Given the description of an element on the screen output the (x, y) to click on. 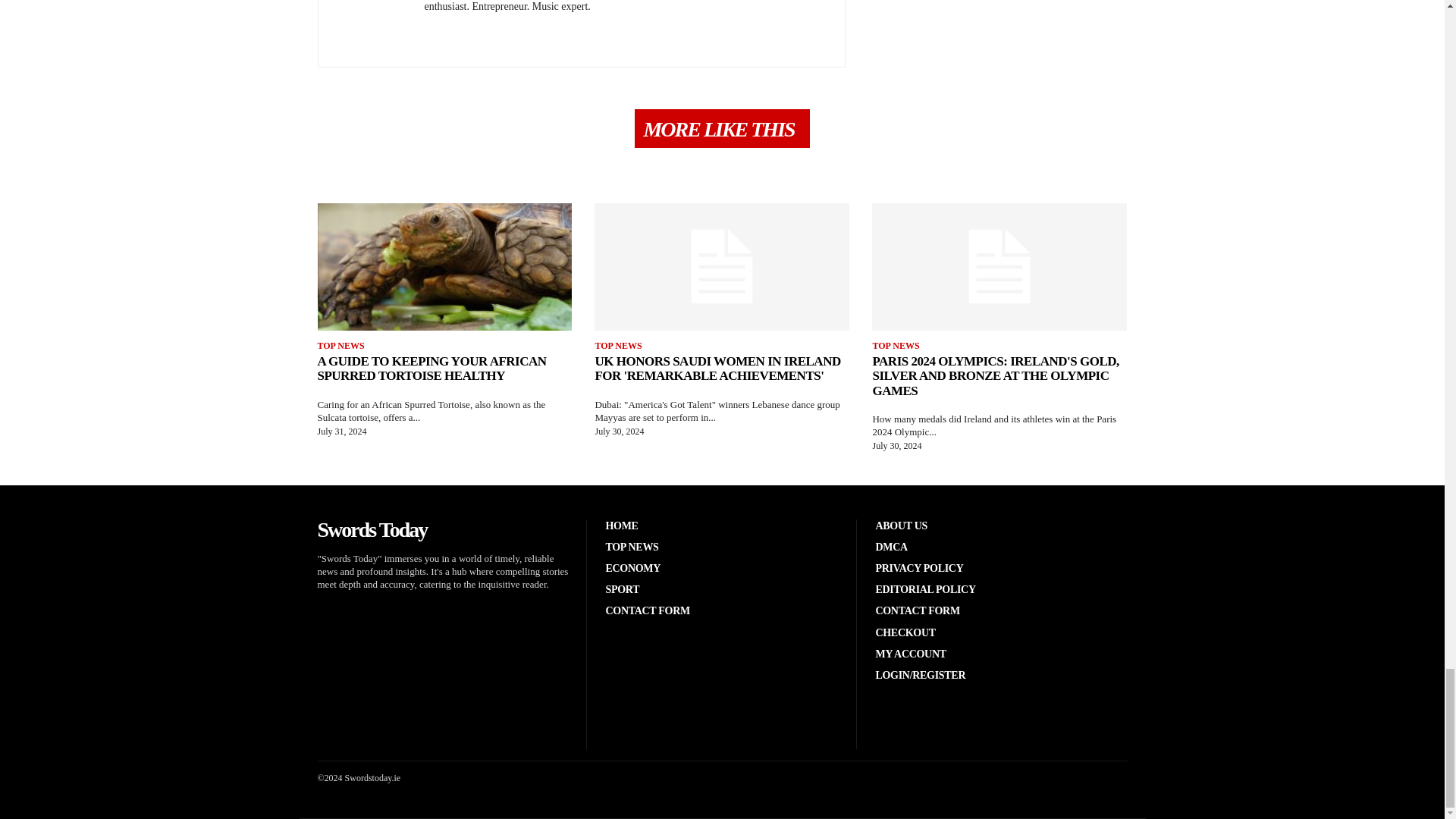
A Guide to Keeping Your African Spurred Tortoise Healthy (431, 368)
A Guide to Keeping Your African Spurred Tortoise Healthy (444, 266)
